Given the description of an element on the screen output the (x, y) to click on. 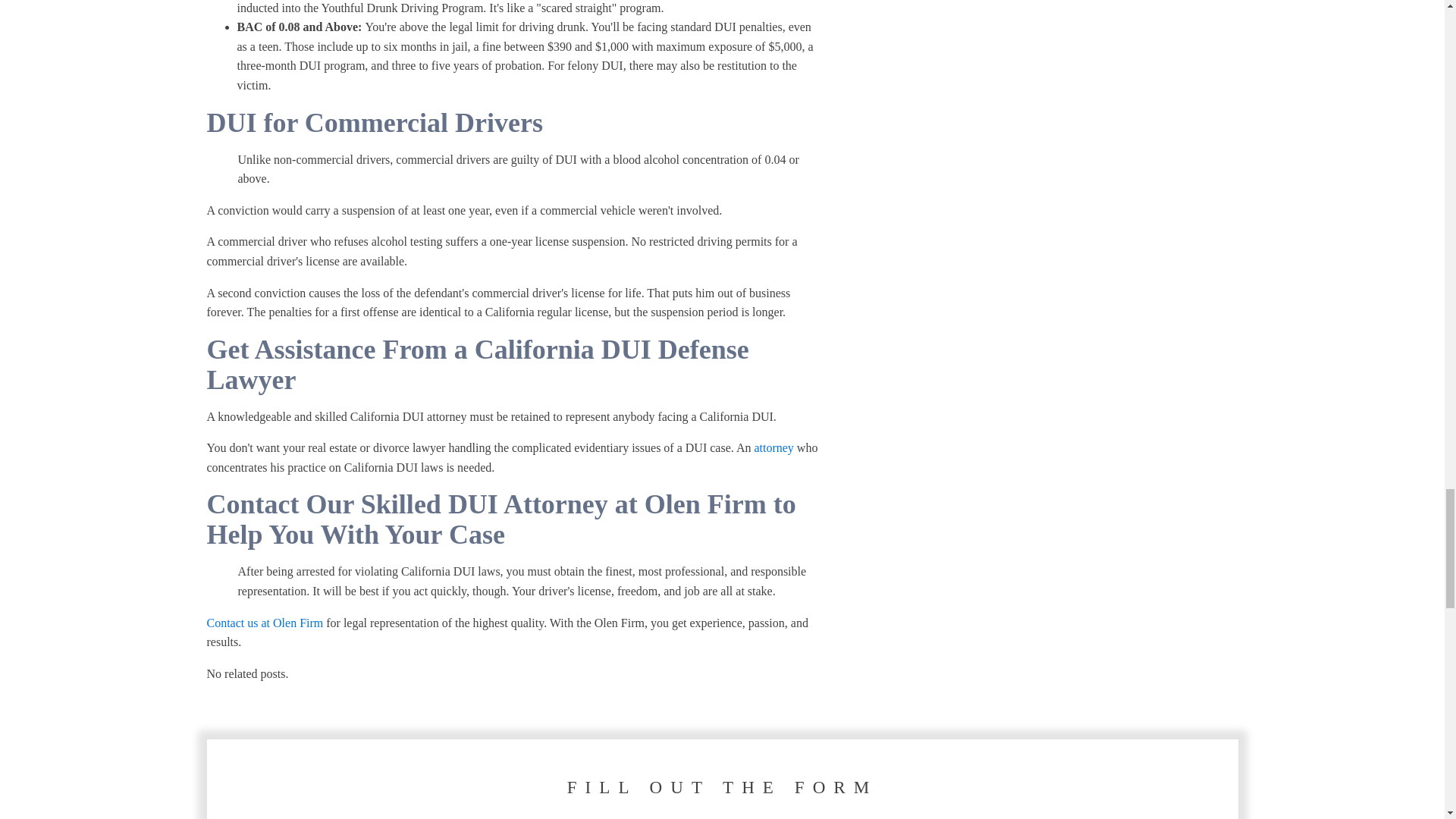
Contact us at Olen Firm (264, 622)
attorney (773, 447)
